Given the description of an element on the screen output the (x, y) to click on. 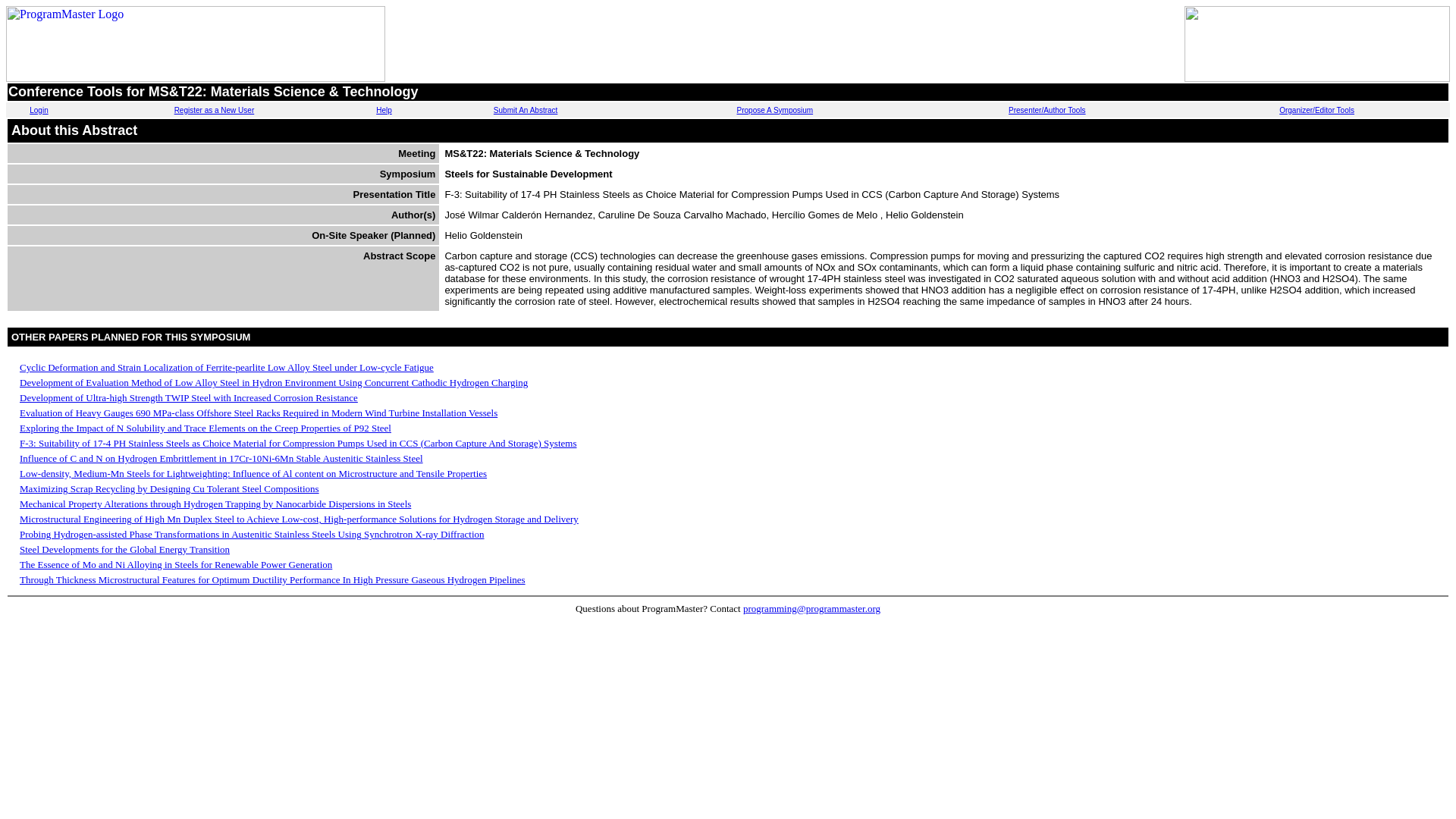
Propose A Symposium (774, 110)
Help (383, 110)
Register as a New User (214, 110)
Steel Developments for the Global Energy Transition (125, 549)
Login (38, 110)
